Given the description of an element on the screen output the (x, y) to click on. 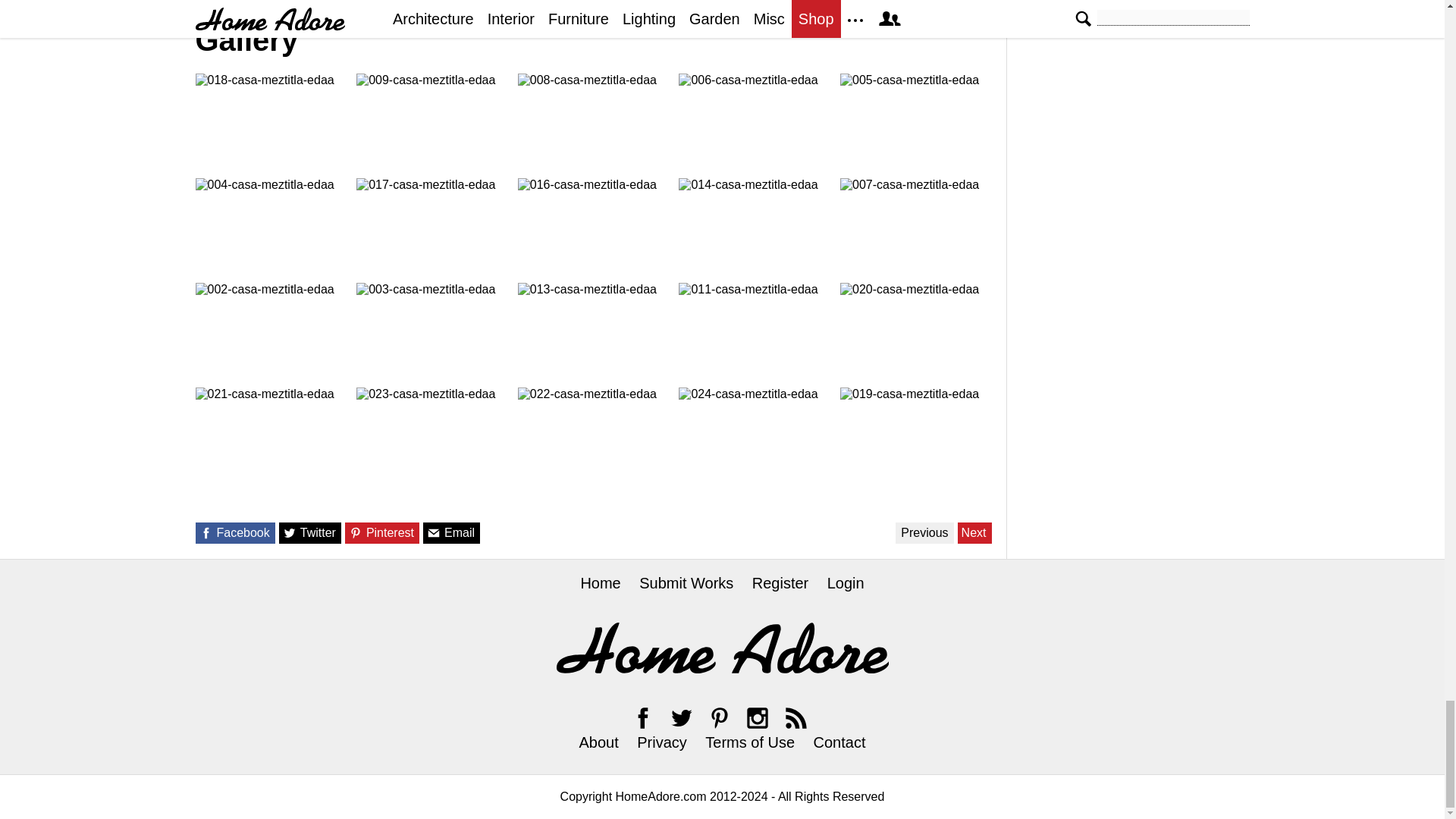
Facebook (643, 718)
Twitter (681, 718)
Share on Twitter (289, 532)
Share with a Friend (433, 532)
Share on Facebook (205, 532)
HomeAdore (722, 648)
Share on Pinterest (355, 532)
